Given the description of an element on the screen output the (x, y) to click on. 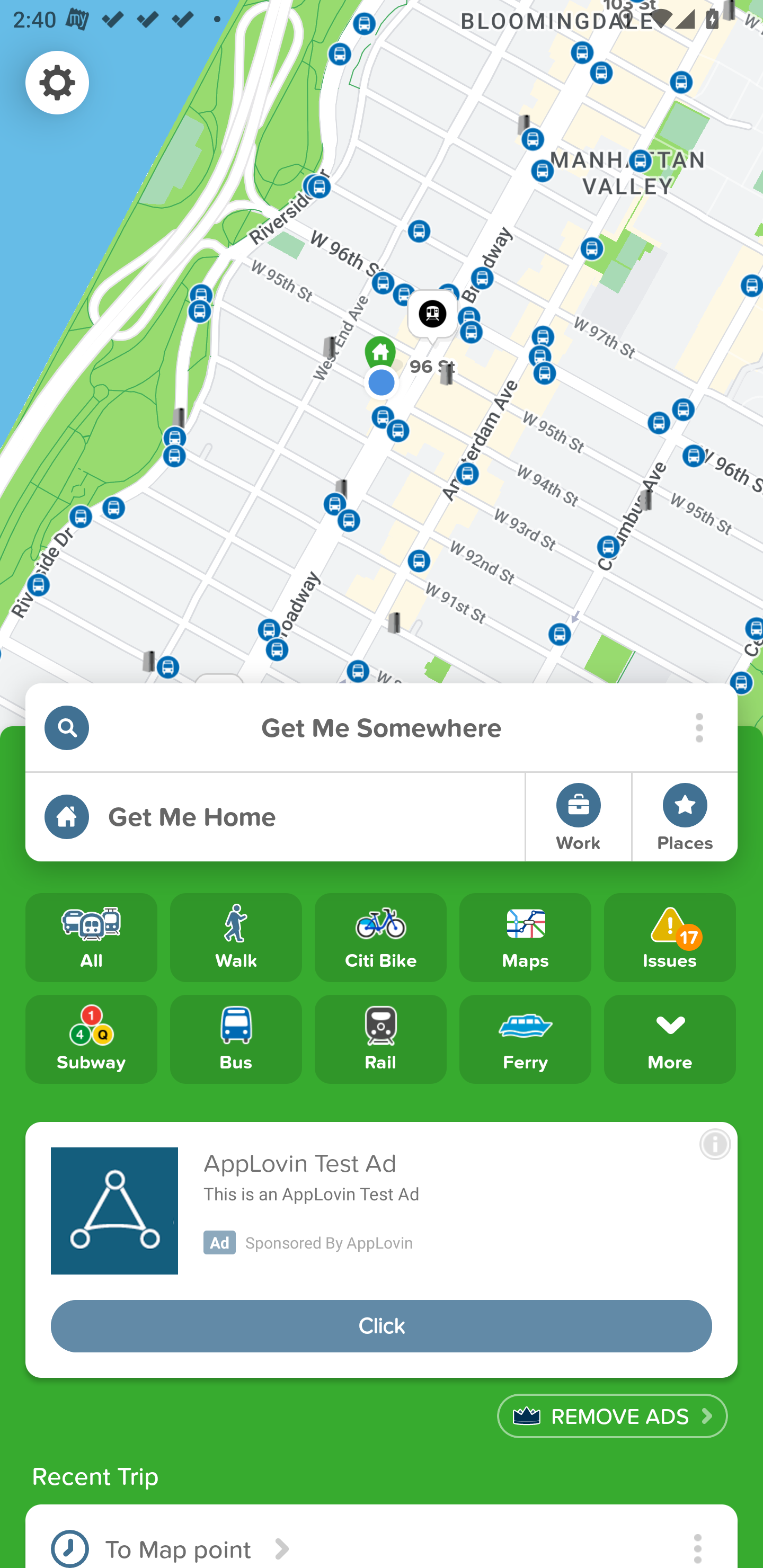
Places (684, 816)
